Given the description of an element on the screen output the (x, y) to click on. 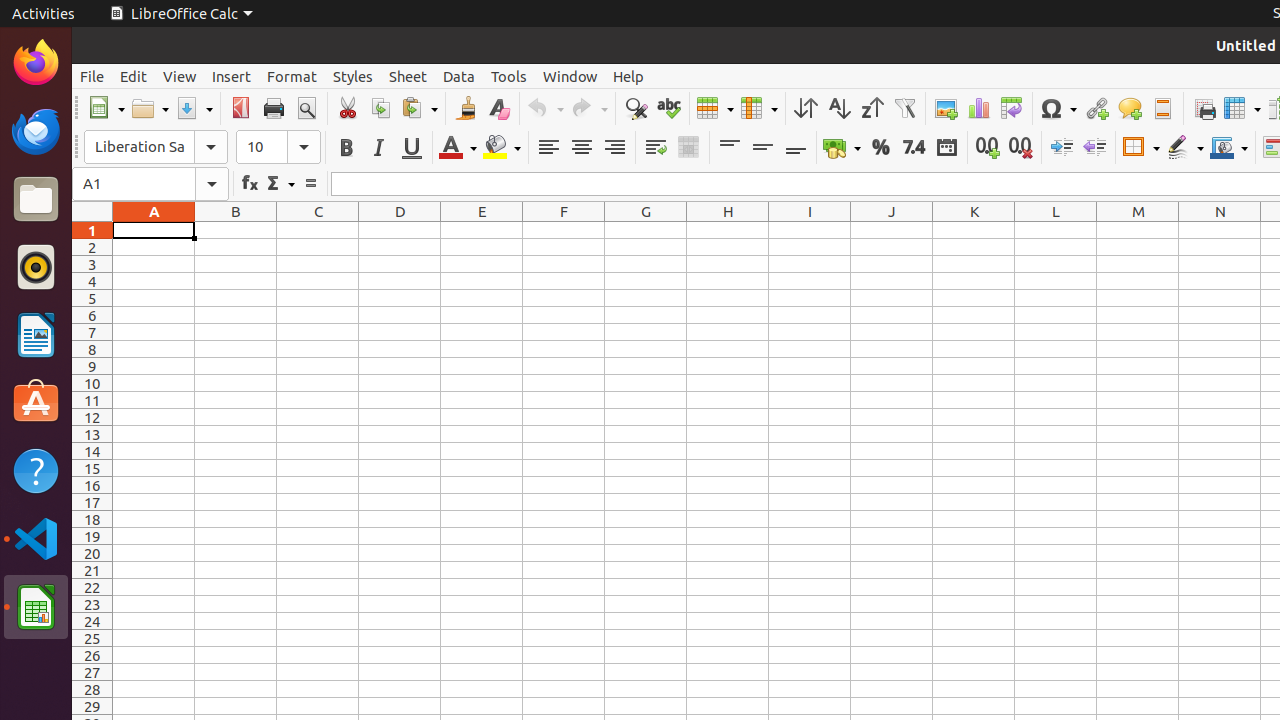
Underline Element type: push-button (411, 147)
Row Element type: push-button (715, 108)
Formula Element type: push-button (310, 183)
Open Element type: push-button (150, 108)
Headers and Footers Element type: push-button (1162, 108)
